Given the description of an element on the screen output the (x, y) to click on. 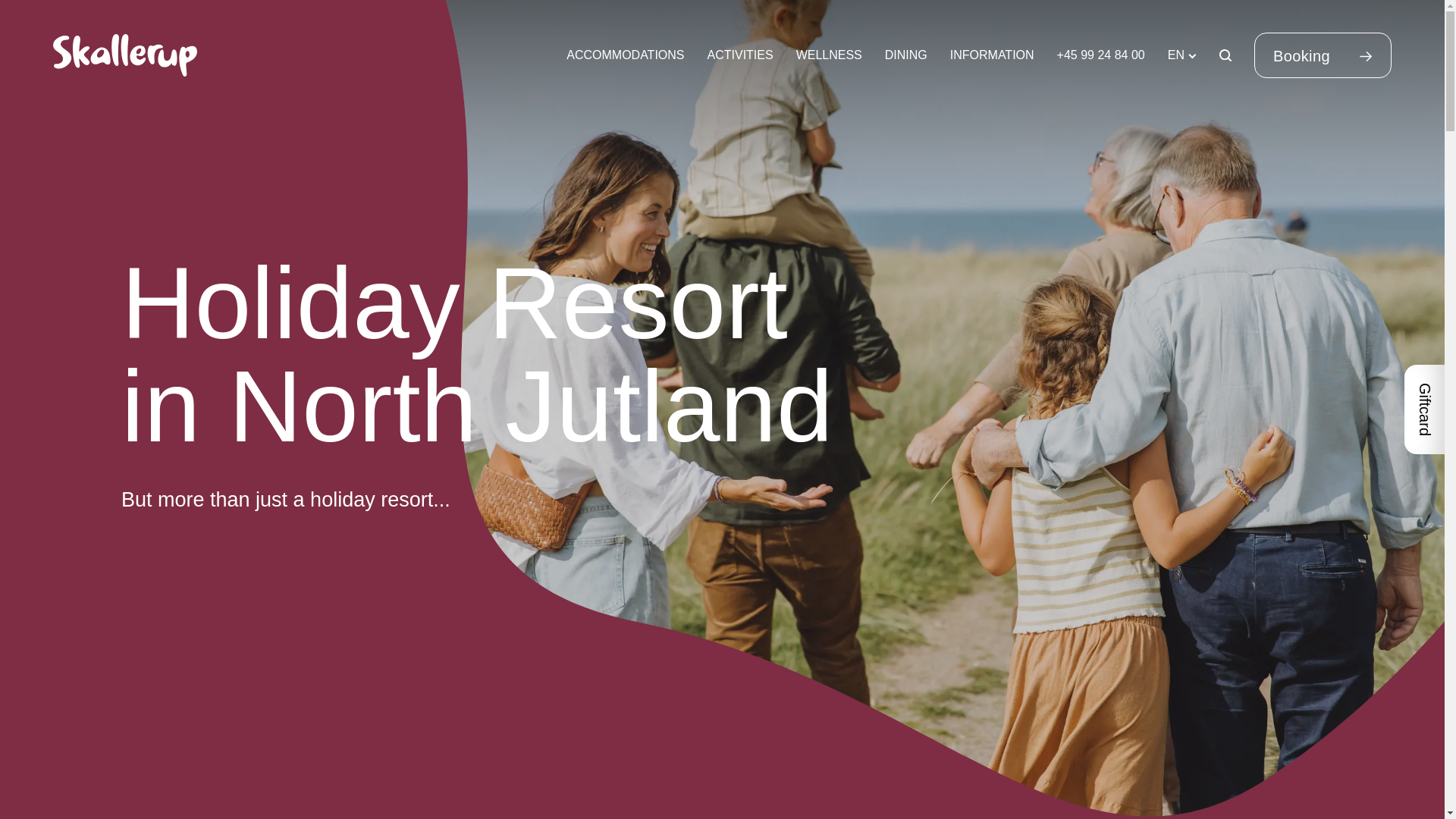
Activities (740, 55)
Skallerup (124, 55)
Dining (906, 55)
ACTIVITIES (740, 55)
INFORMATION (991, 55)
Accommodations (625, 55)
WELLNESS (828, 55)
Wellness (828, 55)
DINING (906, 55)
